Given the description of an element on the screen output the (x, y) to click on. 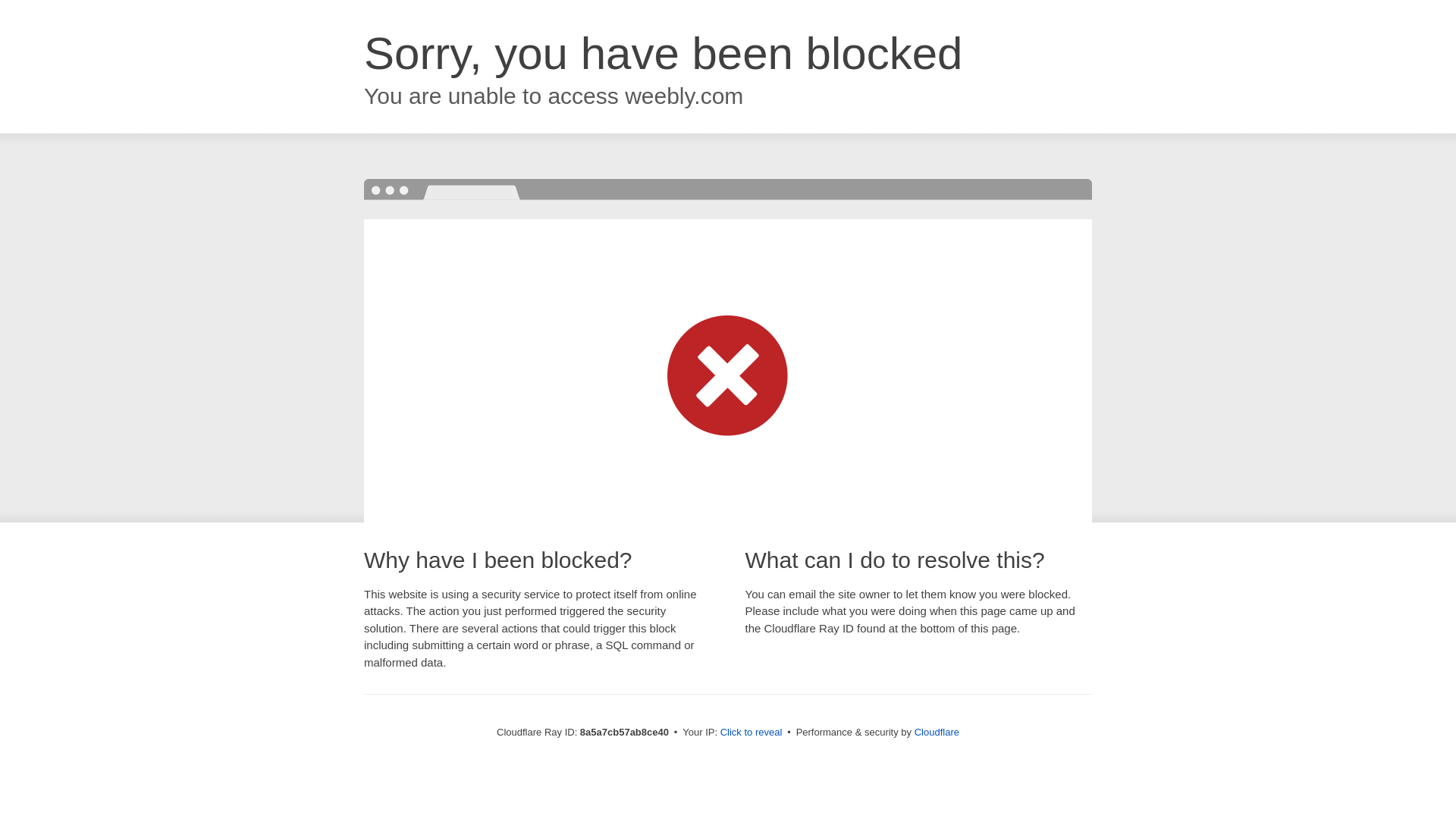
Cloudflare (936, 731)
Click to reveal (751, 732)
